Given the description of an element on the screen output the (x, y) to click on. 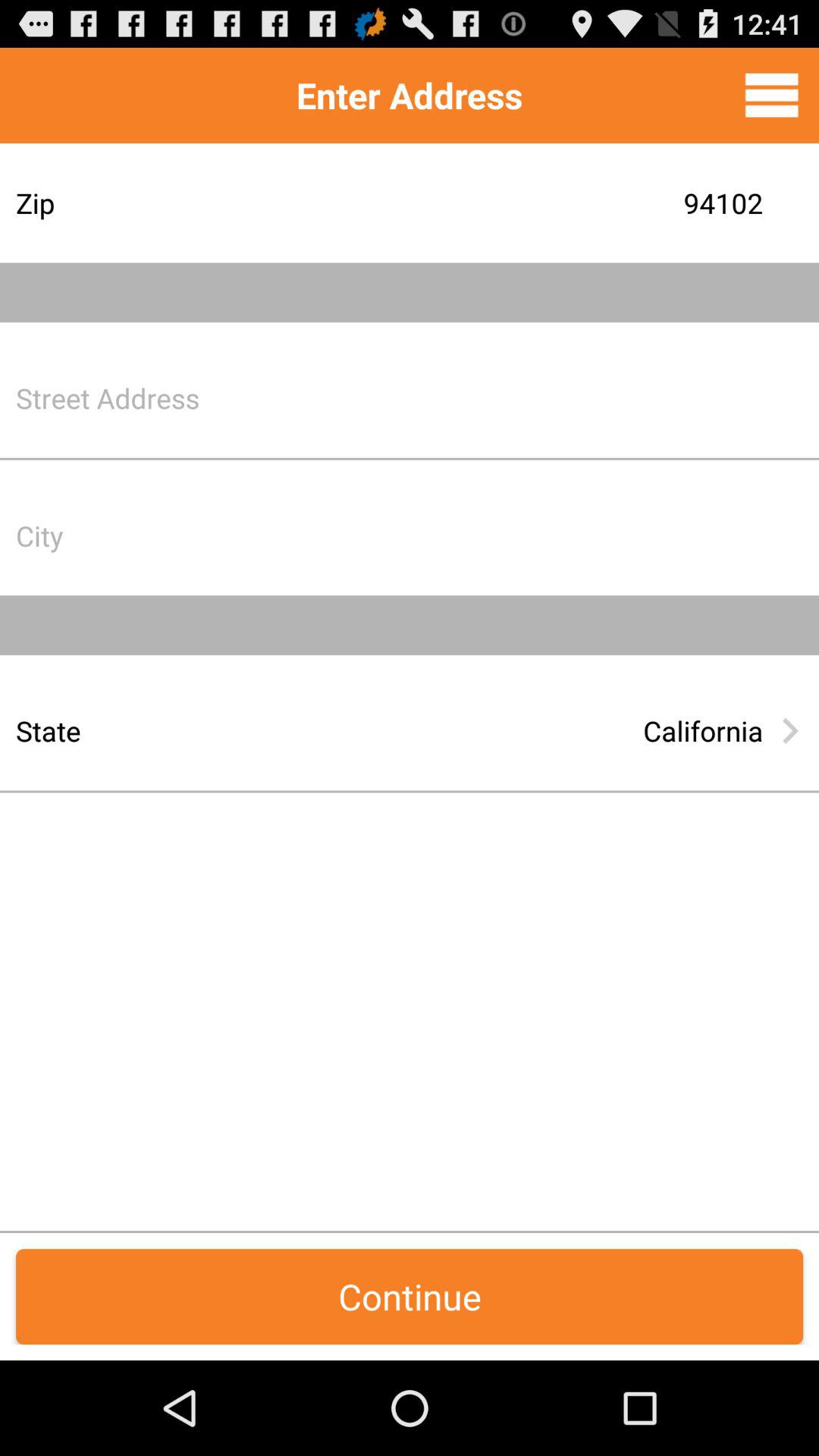
tap the item above the 94102 item (771, 95)
